Given the description of an element on the screen output the (x, y) to click on. 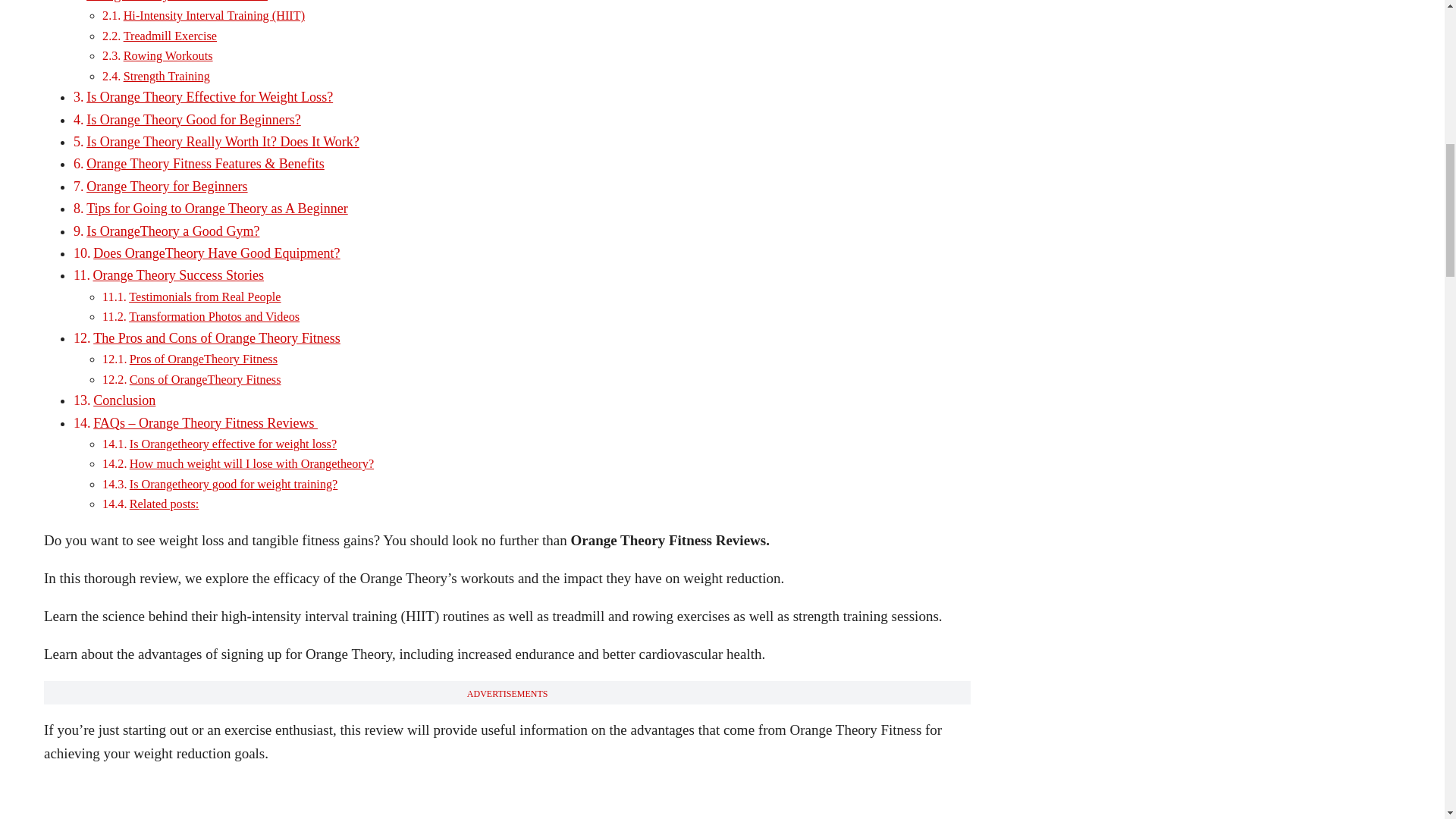
Strength Training (166, 76)
Is Orange Theory Really Worth It? Does It Work? (222, 141)
Rowing Workouts (167, 56)
Is Orange Theory Good for Beginners? (193, 119)
Is Orange Theory Good for Beginners? (193, 119)
Testimonials from Real People (205, 296)
Orange Theory Fitness Workouts (176, 1)
Tips for Going to Orange Theory as A Beginner (216, 208)
Treadmill Exercise (169, 36)
Cons of OrangeTheory Fitness (205, 379)
Treadmill Exercise (169, 36)
Orange Theory Fitness Workouts (176, 1)
Is Orangetheory good for weight training? (233, 484)
Strength Training (166, 76)
Conclusion (124, 400)
